Given the description of an element on the screen output the (x, y) to click on. 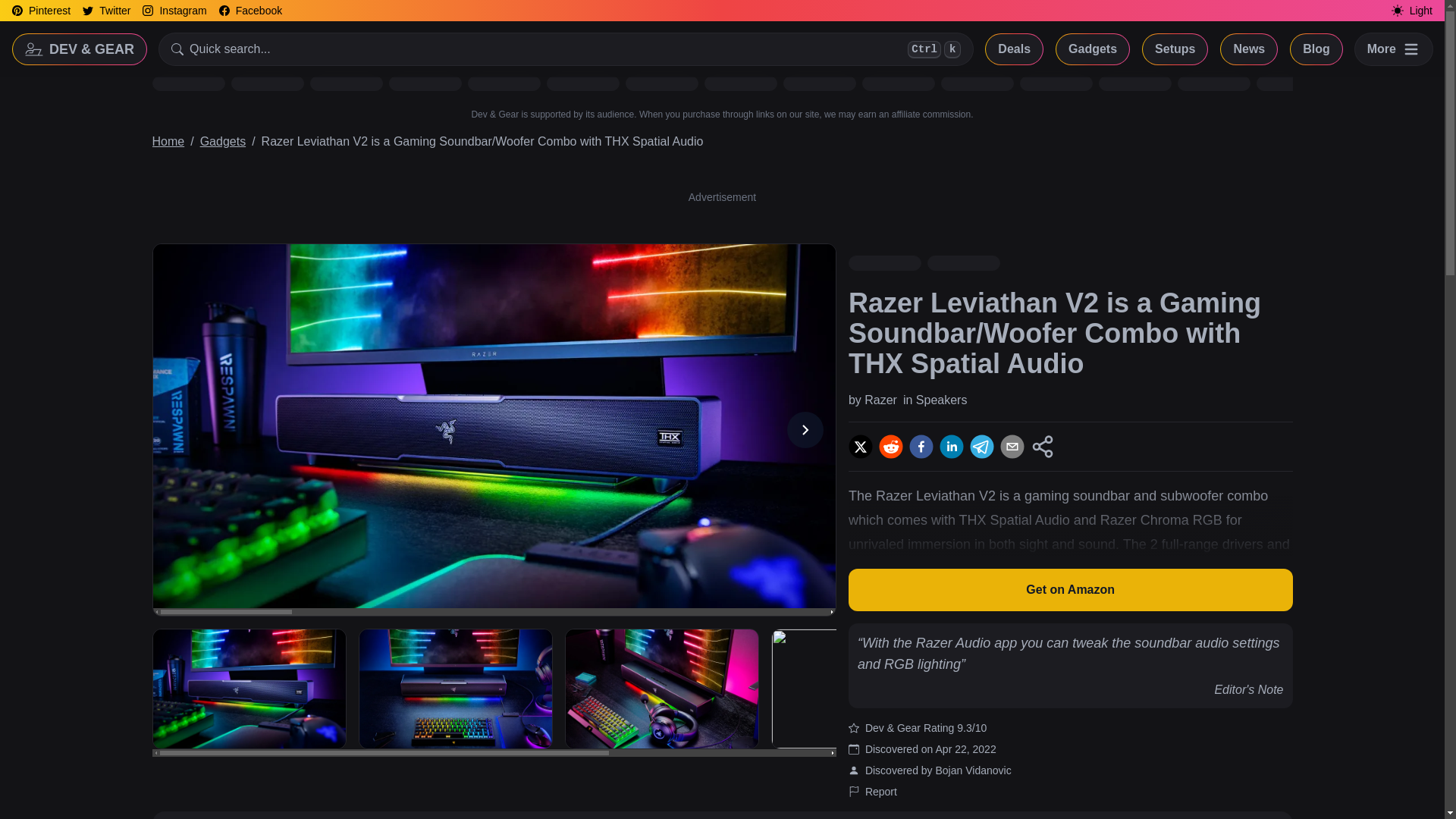
More (565, 49)
Home (1393, 49)
Pinterest (167, 141)
Report (40, 10)
Blog (880, 791)
Instagram (1316, 49)
Twitter (174, 10)
Gadgets (106, 10)
Setups (223, 141)
